Given the description of an element on the screen output the (x, y) to click on. 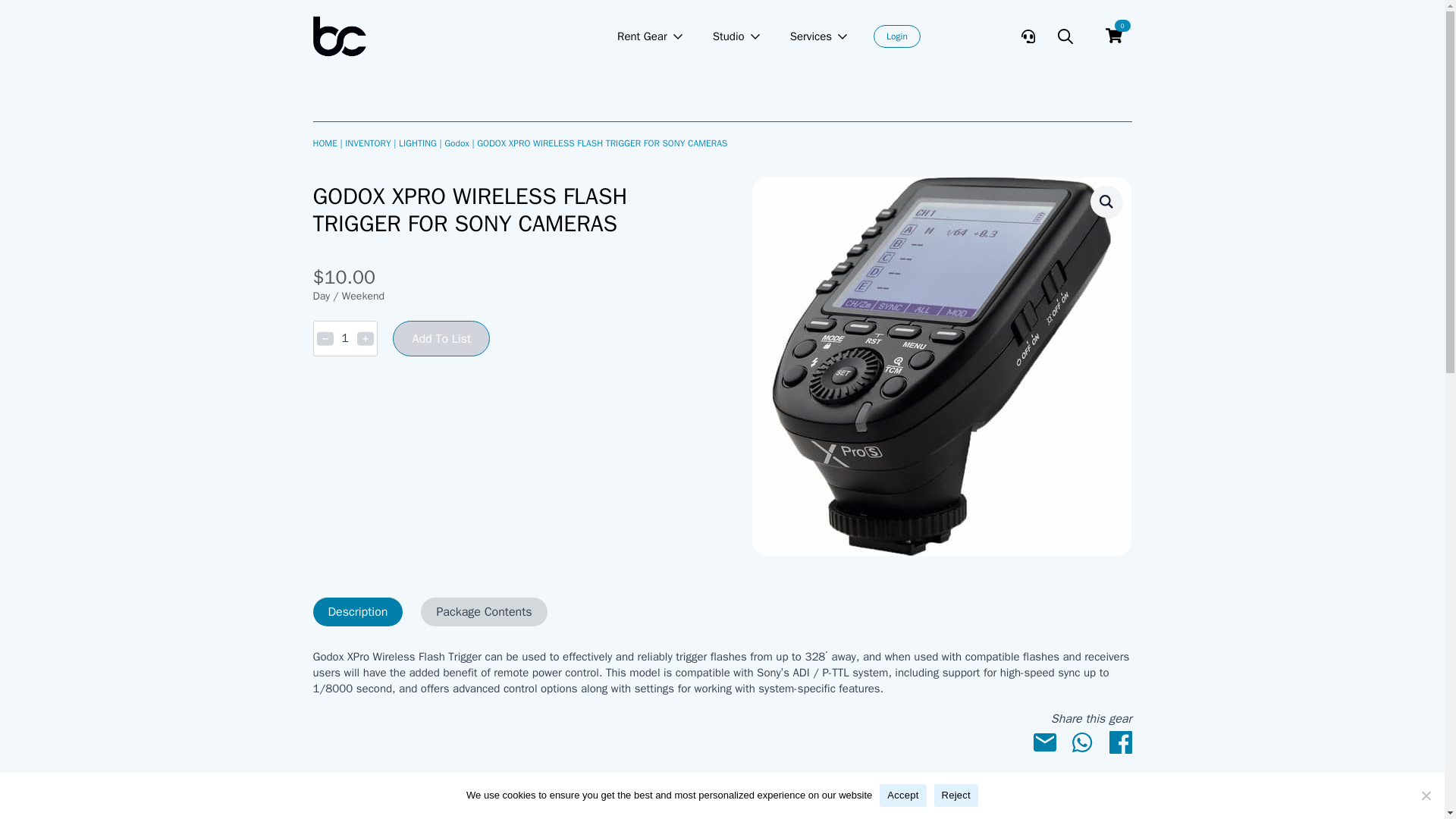
Rent Gear (722, 611)
Studio (634, 36)
1 (720, 36)
Login (345, 338)
Reject (896, 36)
Services (1425, 795)
Godox-XPro-Wireless-Flash-Trigger-for-Sony-Cameras- (802, 36)
